Given the description of an element on the screen output the (x, y) to click on. 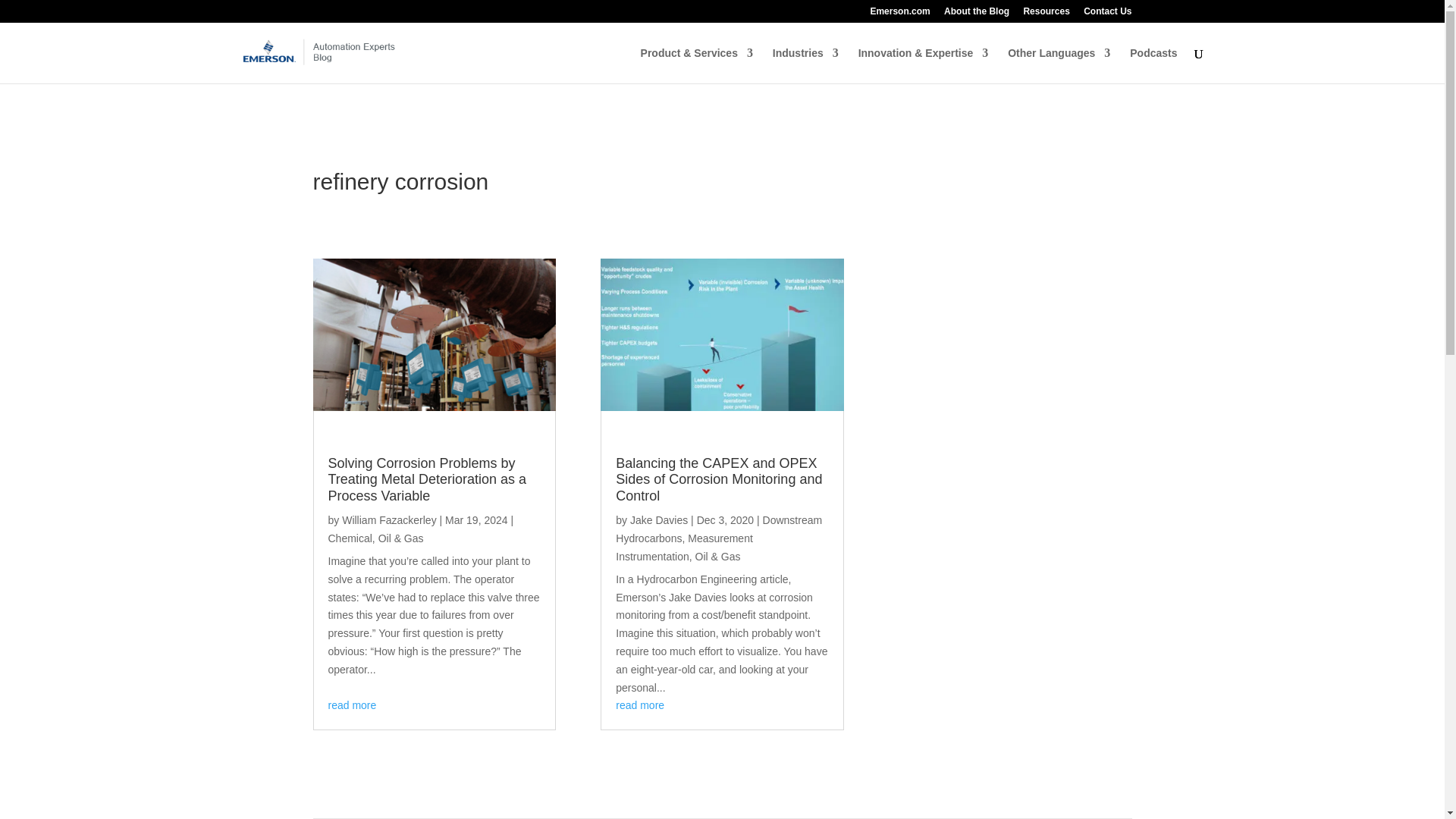
Resources (1045, 14)
Posts by Jake Davies (658, 520)
Industries (805, 65)
Contact Us (1107, 14)
Emerson.com (899, 14)
About the Blog (976, 14)
Posts by William Fazackerley (388, 520)
